Given the description of an element on the screen output the (x, y) to click on. 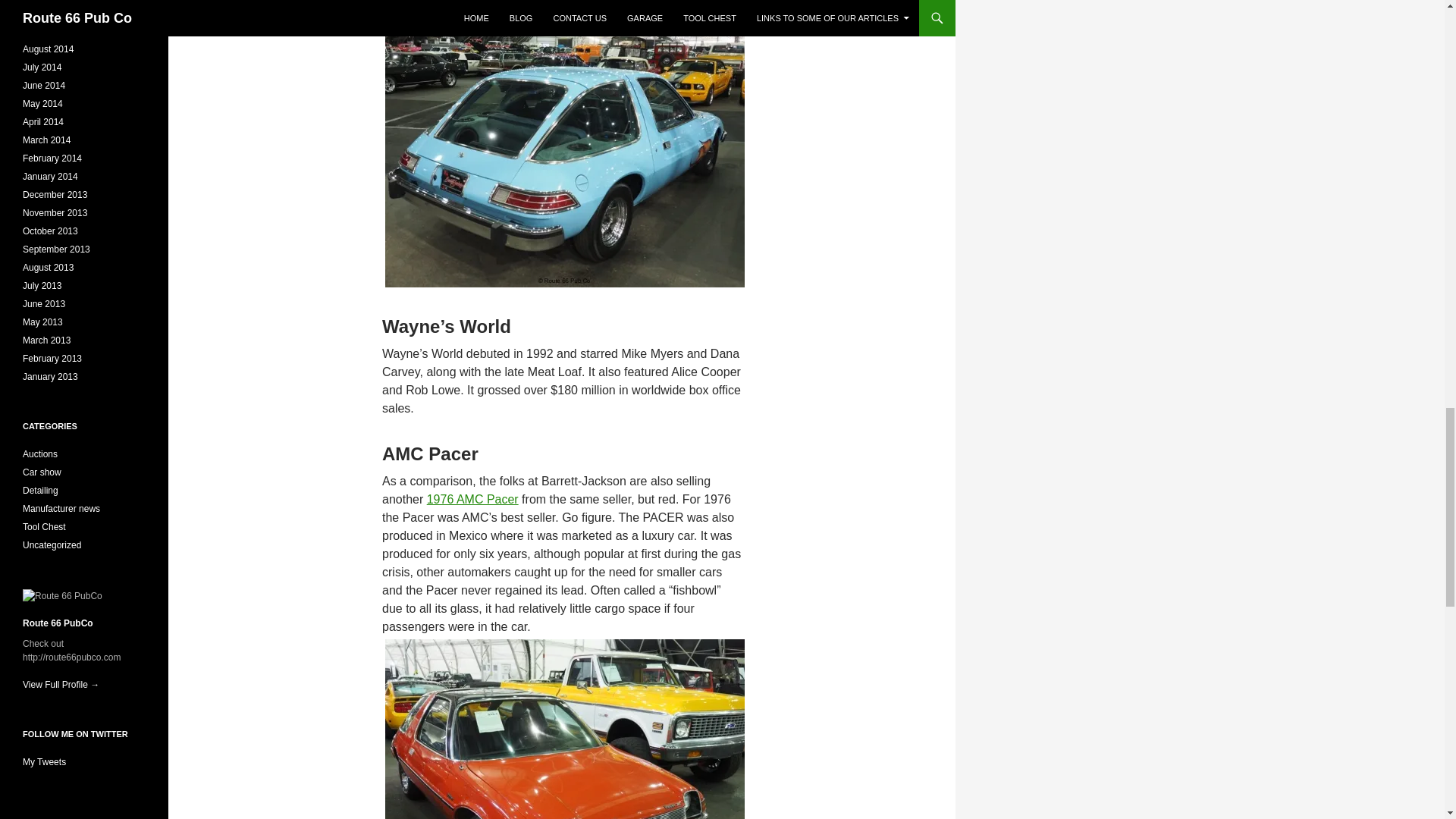
1976 AMC Pacer (472, 499)
